Given the description of an element on the screen output the (x, y) to click on. 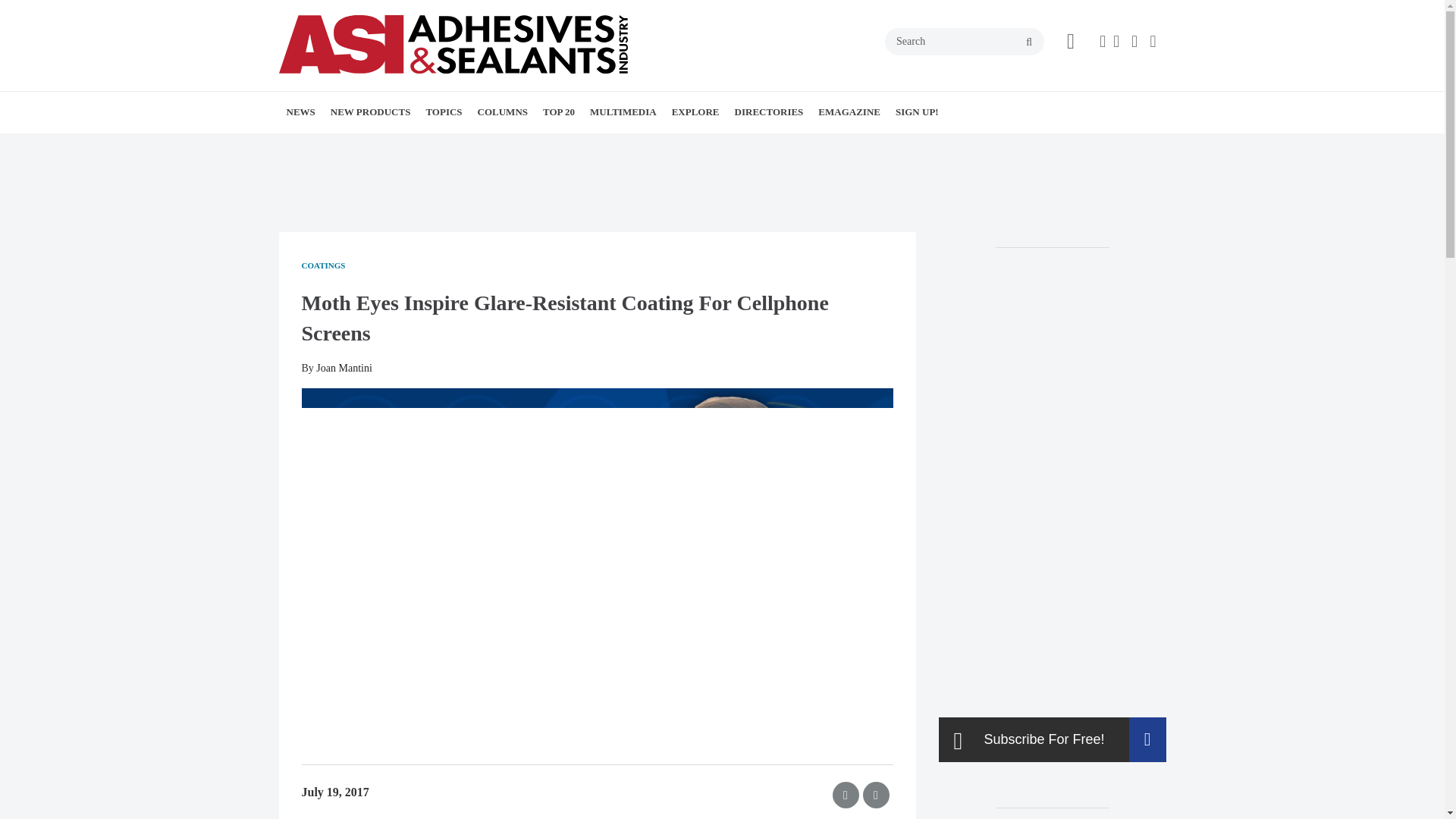
SUSTAINABILITY (564, 145)
NEW PRODUCTS (371, 111)
STRATEGIC SOLUTIONS (582, 145)
NEWS (301, 111)
SPECIALTY CHEMICALS INSIGHTS (577, 145)
CURING (552, 145)
Search (964, 41)
COMPOSITES (562, 145)
RAW MATERIALS AND CHEMICALS (538, 154)
FINISHED ADHESIVES AND SEALANTS (512, 154)
Search (964, 41)
TOPICS (442, 111)
COATINGS (533, 145)
COLUMNS (502, 111)
EVENTS CALENDAR (398, 145)
